Given the description of an element on the screen output the (x, y) to click on. 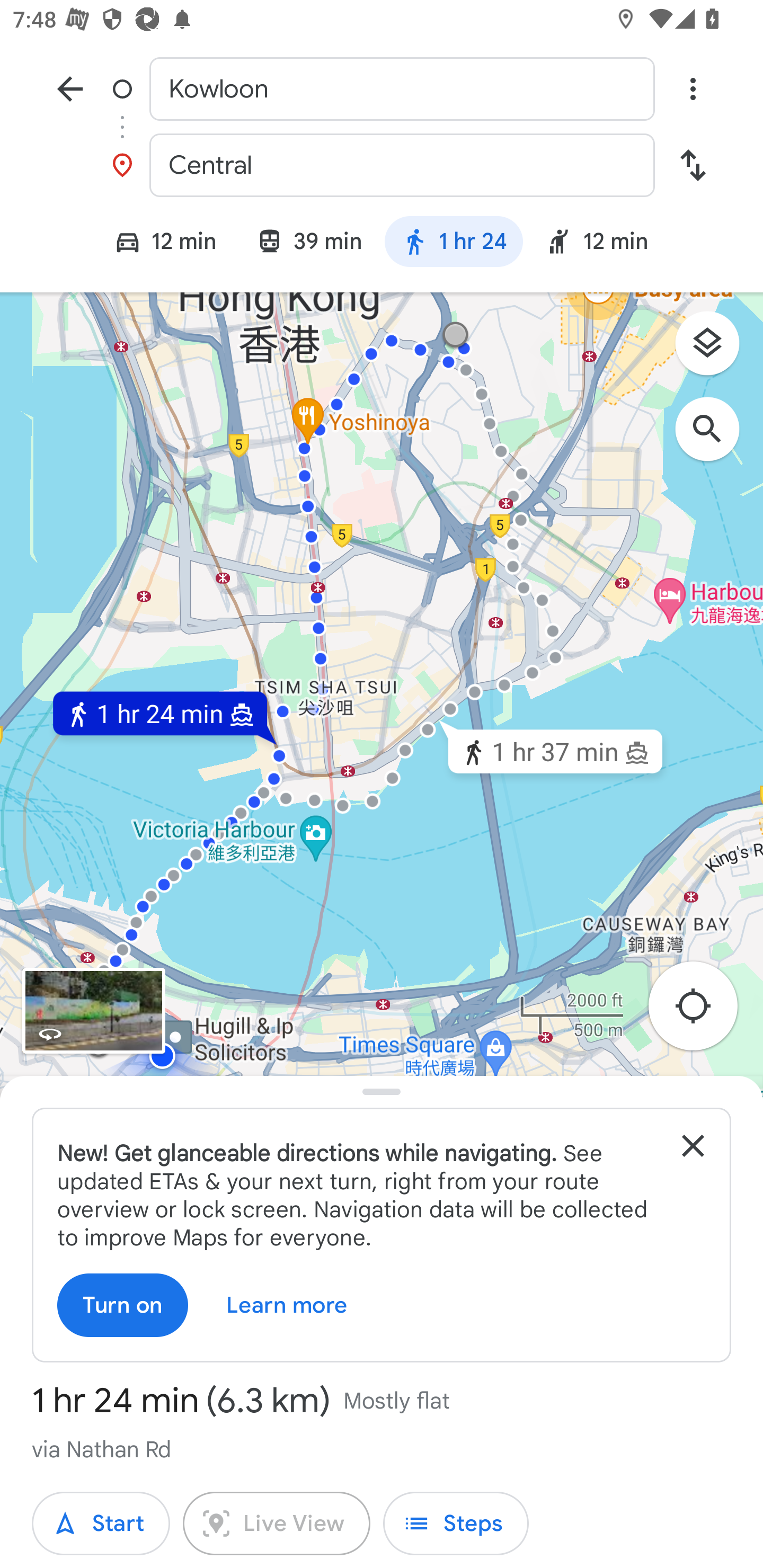
Navigate up (70, 88)
Kowloon Start location, Kowloon (381, 88)
Overflow menu (692, 88)
Central Destination, Central (381, 165)
Swap start and destination (692, 165)
Driving mode: 12 min 12 min (157, 244)
Transit mode: 39 min 39 min (308, 244)
Ride service: 12 min 12 min (605, 244)
Layers (716, 349)
Search along route (716, 438)
Re-center map to your location (702, 1010)
Close (692, 1145)
Turn on Turn on Turn on (122, 1304)
Learn more Learn more Learn more (286, 1304)
Live View Live View Live View (276, 1522)
Steps Steps Steps (455, 1522)
